Given the description of an element on the screen output the (x, y) to click on. 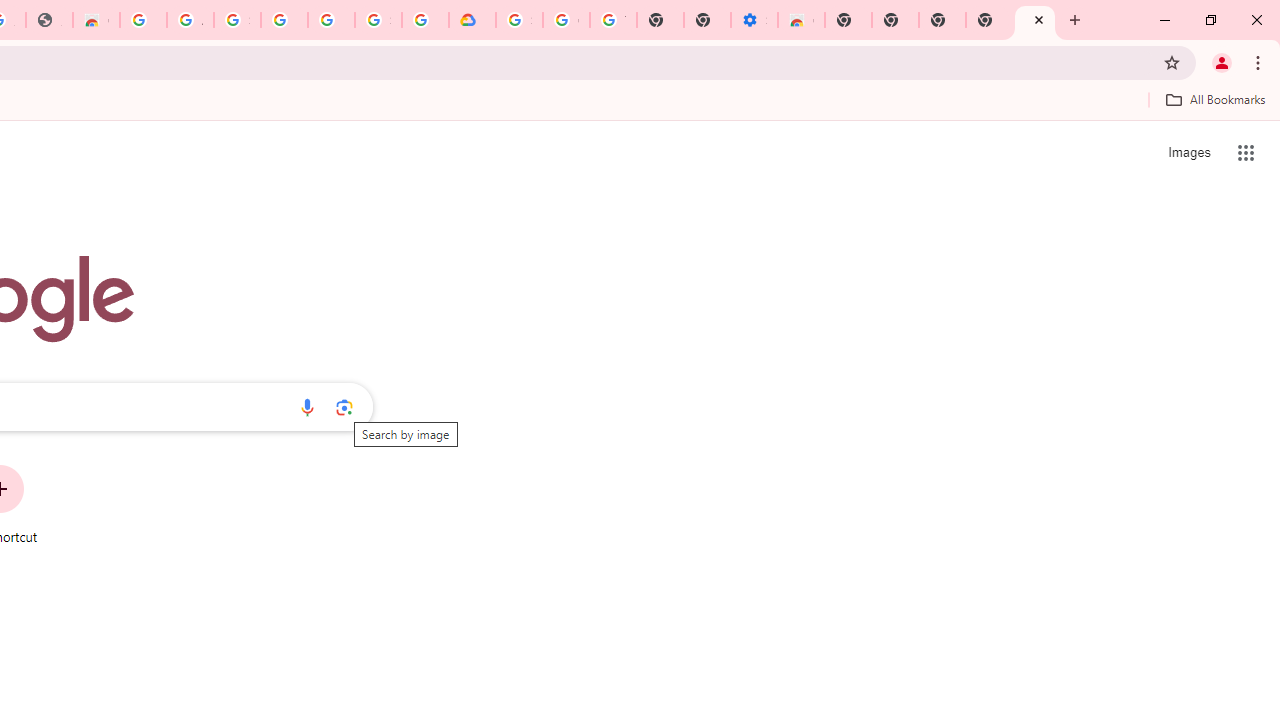
Chrome Web Store - Accessibility extensions (801, 20)
